Given the description of an element on the screen output the (x, y) to click on. 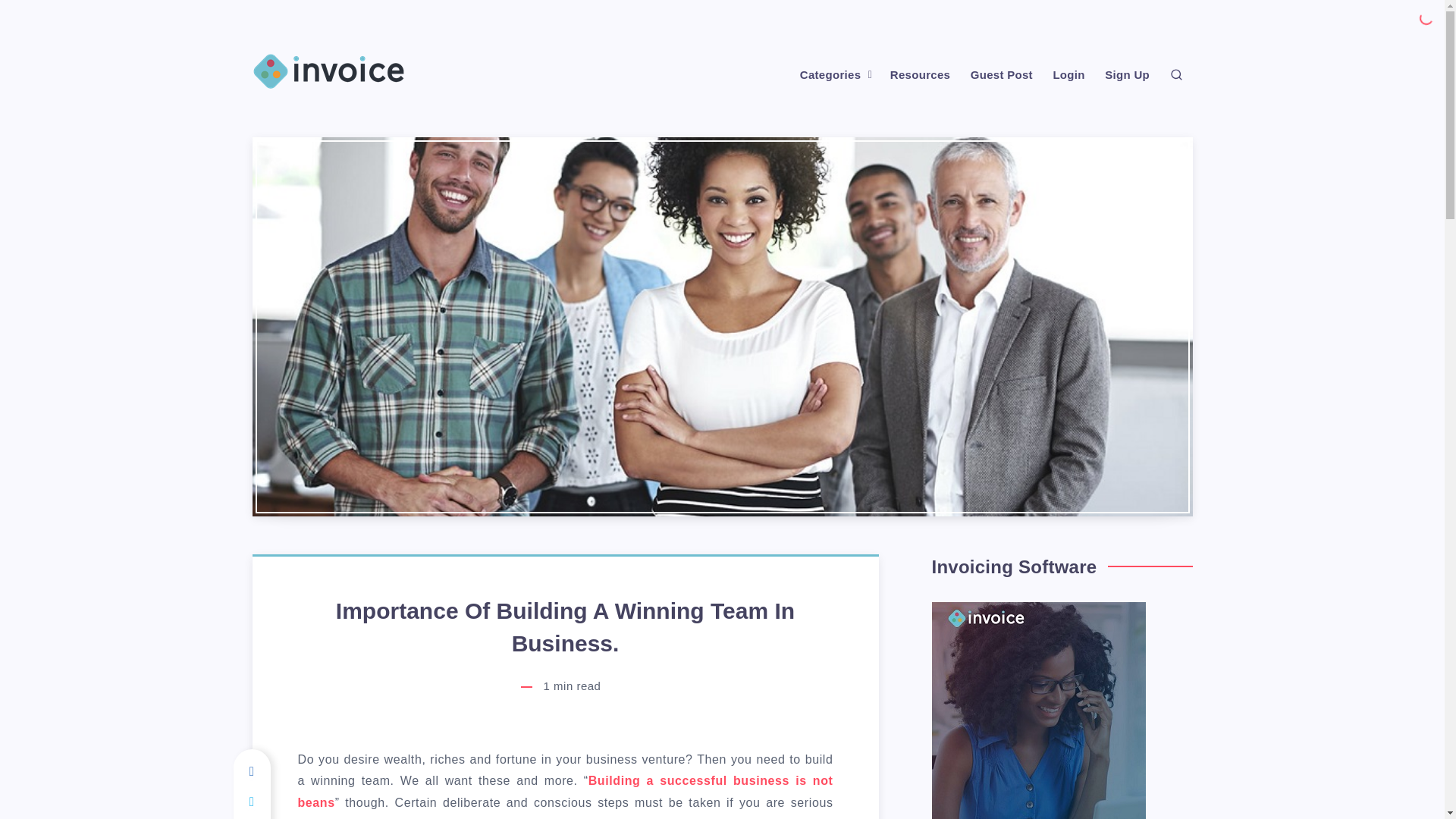
Building a successful business is not beans (564, 791)
Resources (919, 74)
Login (1068, 74)
Guest Post (1001, 74)
Categories (830, 74)
Sign Up (1127, 74)
